Given the description of an element on the screen output the (x, y) to click on. 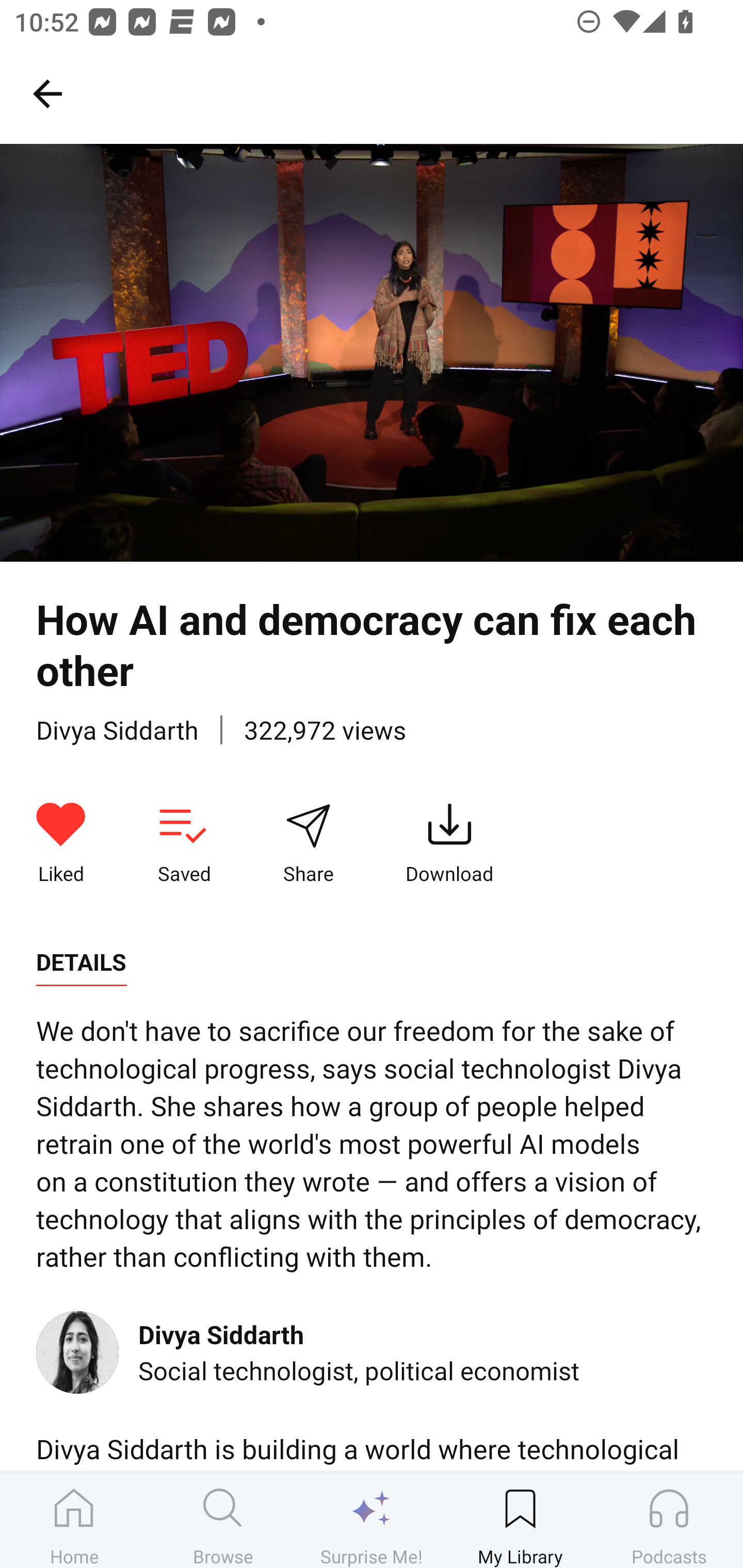
My Library, back (47, 92)
Liked (60, 843)
Saved (183, 843)
Share (308, 843)
Download (449, 843)
DETAILS (80, 962)
Home (74, 1520)
Browse (222, 1520)
Surprise Me! (371, 1520)
My Library (519, 1520)
Podcasts (668, 1520)
